Given the description of an element on the screen output the (x, y) to click on. 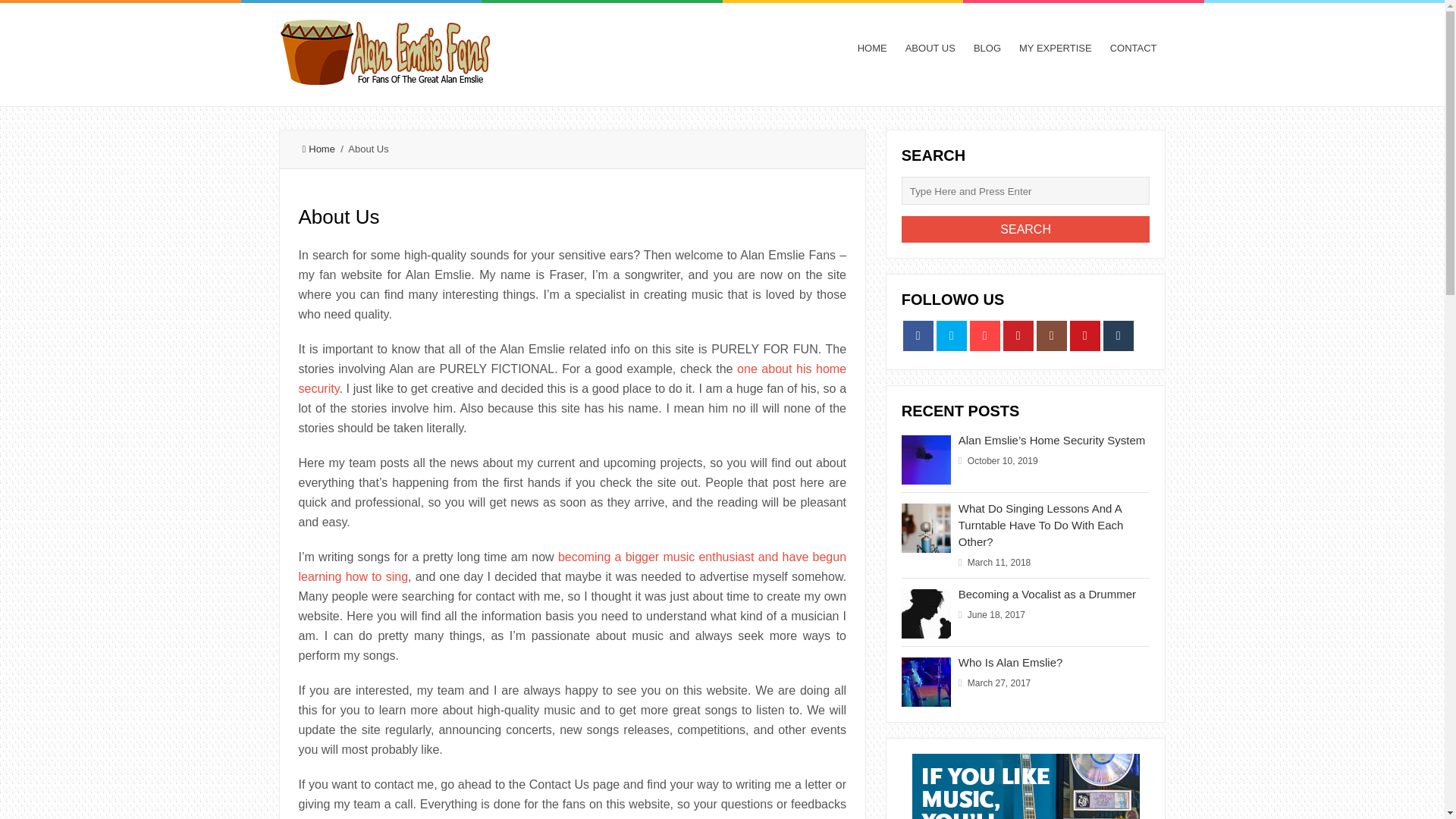
one about his home security (572, 378)
Home (317, 148)
Search (1025, 229)
Becoming a Vocalist as a Drummer (1046, 594)
Becoming a Vocalist as a Drummer (1046, 594)
MY EXPERTISE (1055, 48)
Search (1025, 229)
